Given the description of an element on the screen output the (x, y) to click on. 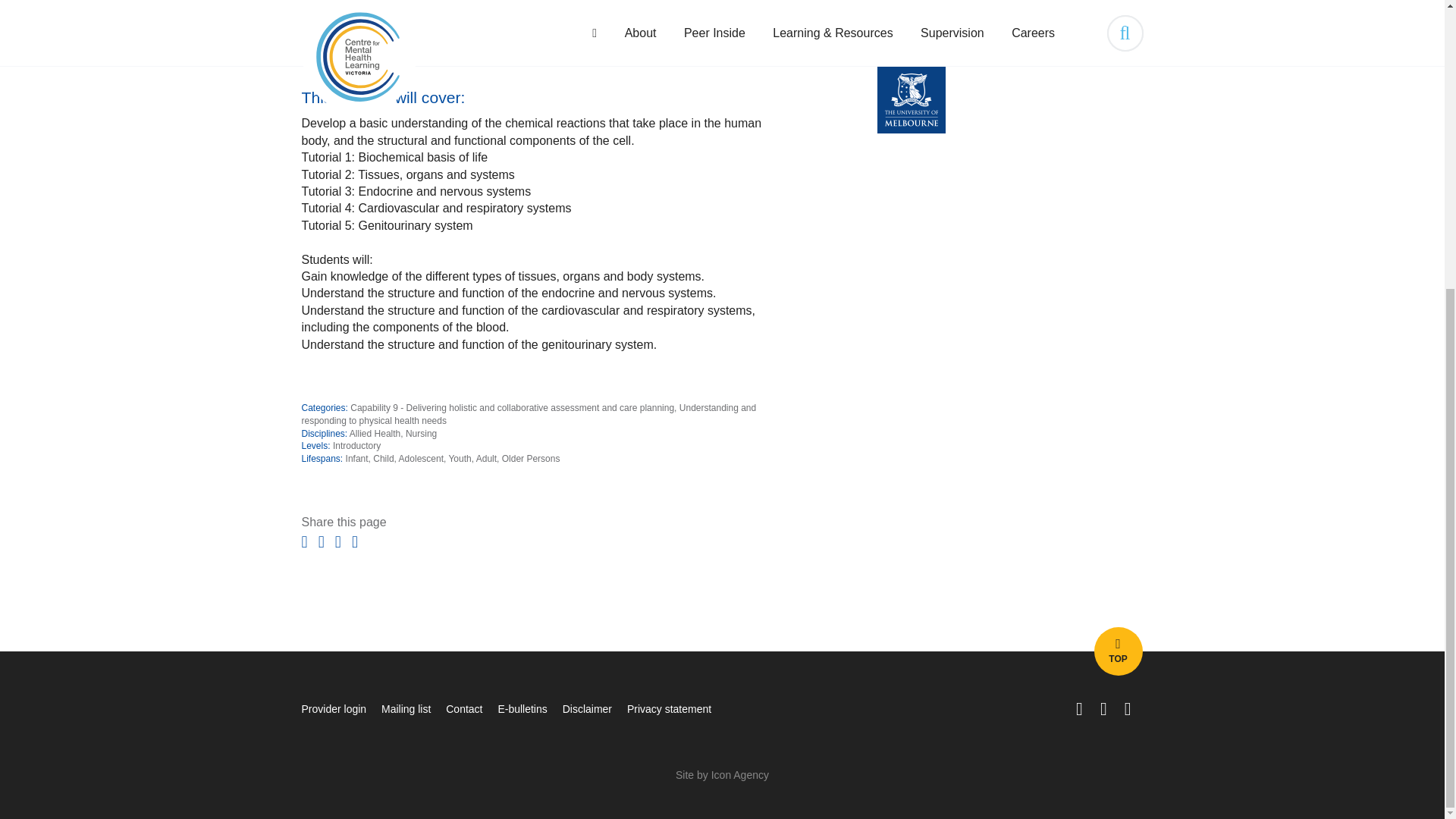
Link to  website (1009, 99)
Subscribe our Newsletters to get the newest updates from us (522, 708)
